Given the description of an element on the screen output the (x, y) to click on. 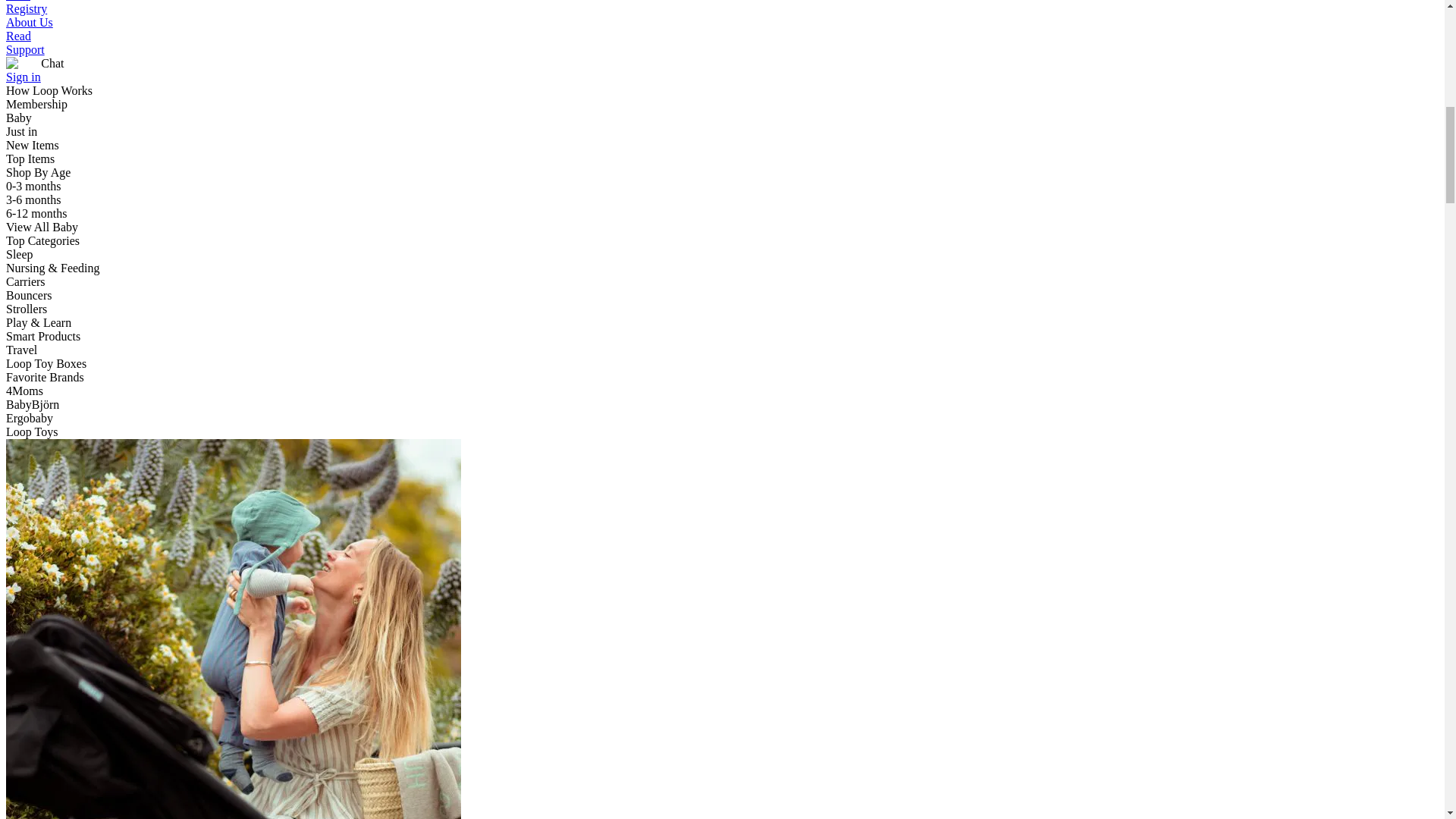
Sign in (22, 76)
Support (25, 49)
